Given the description of an element on the screen output the (x, y) to click on. 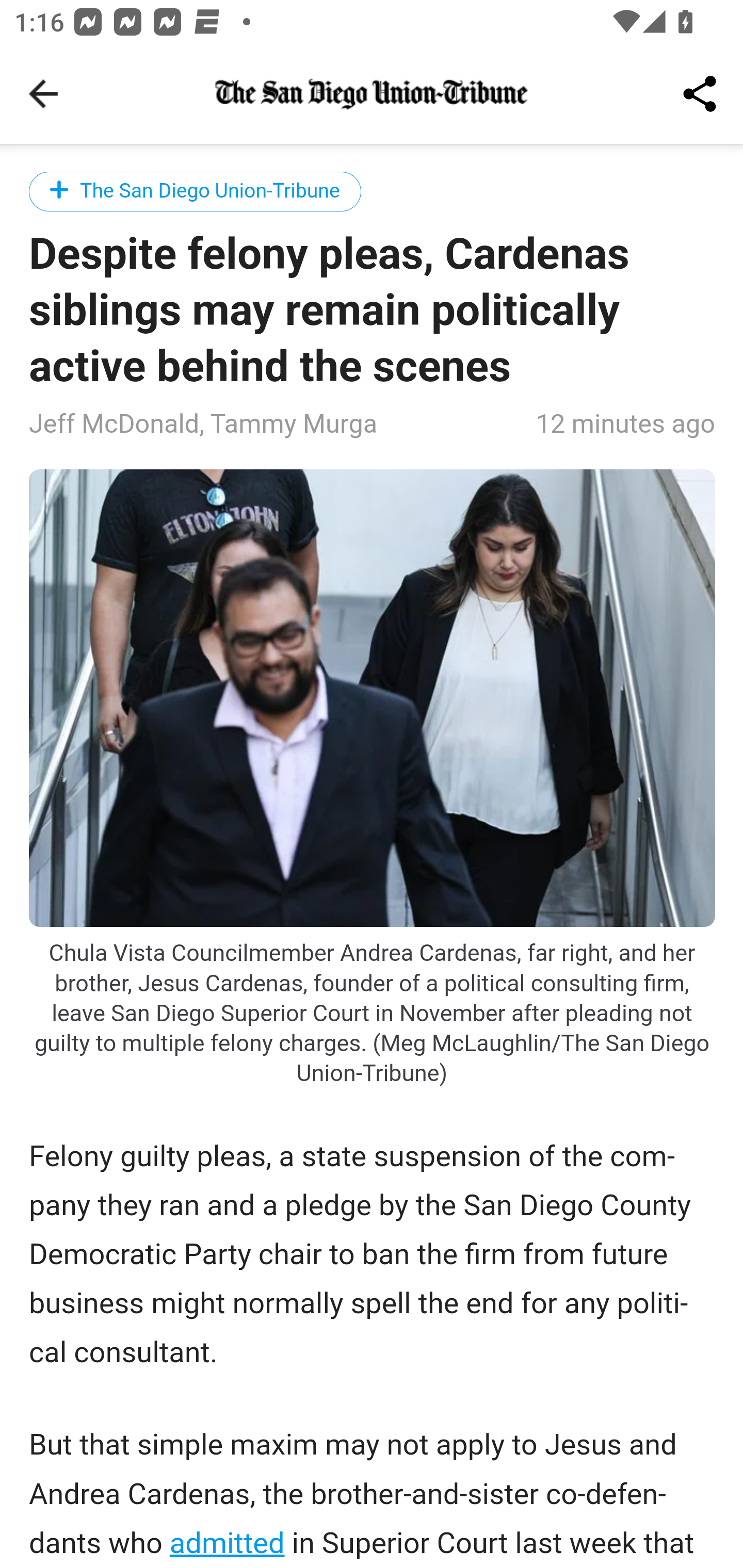
The San Diego Union-Tribune (195, 191)
admitted (226, 1542)
